Given the description of an element on the screen output the (x, y) to click on. 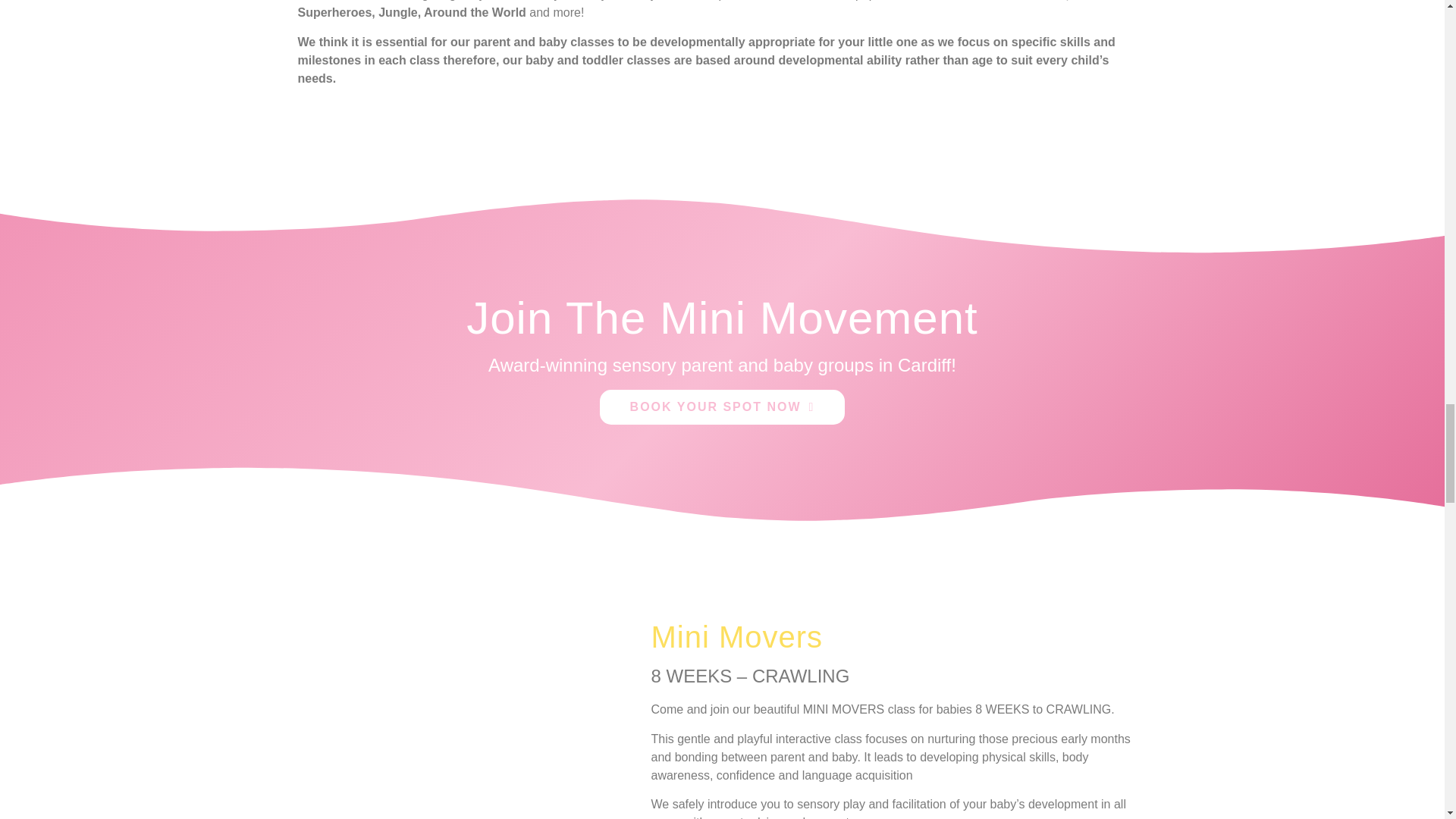
BOOK YOUR SPOT NOW (722, 407)
The Mini Movement 2 (462, 720)
